Given the description of an element on the screen output the (x, y) to click on. 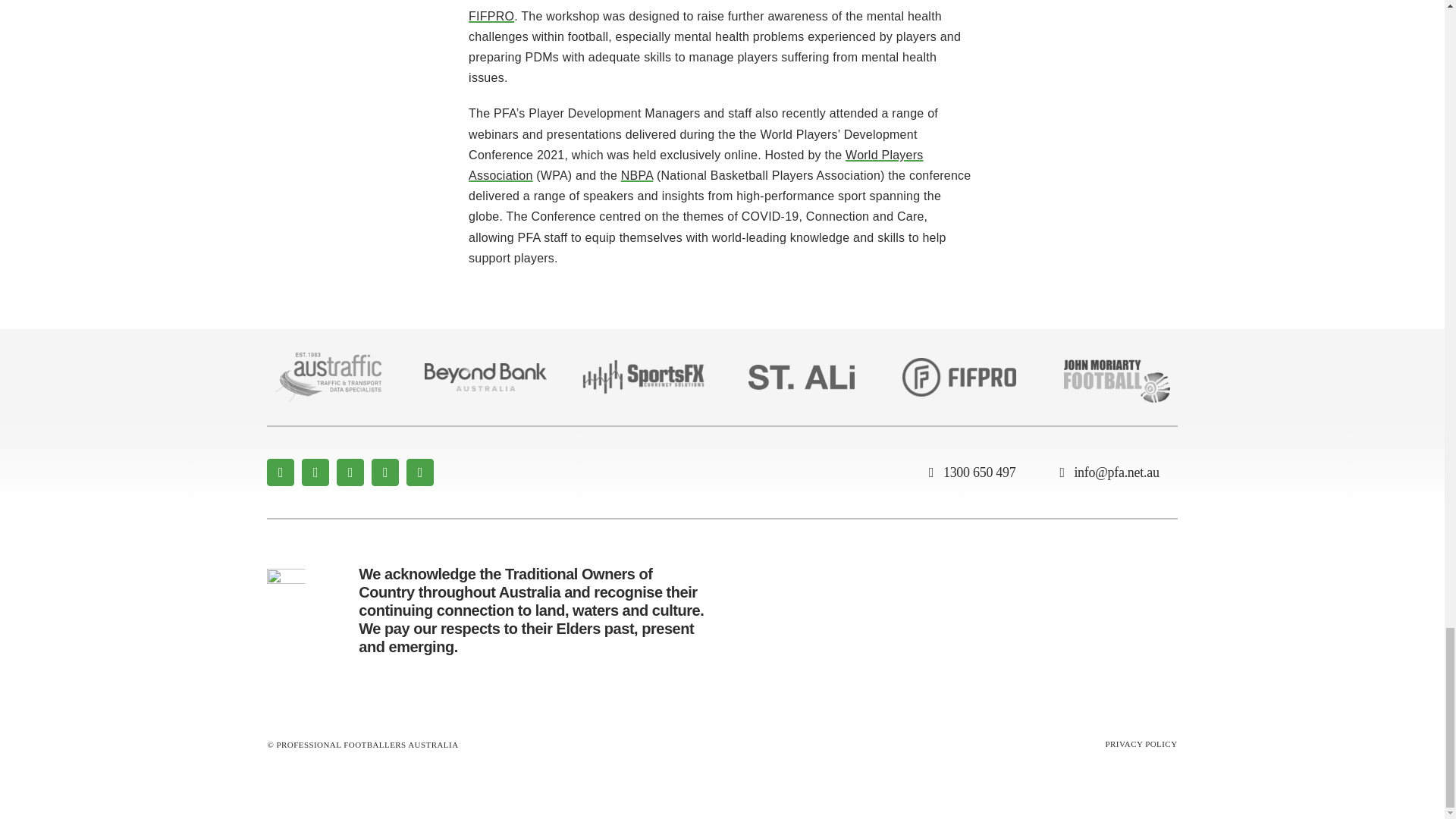
YouTube (384, 472)
Facebook (280, 472)
X (315, 472)
LinkedIn (419, 472)
Instagram (350, 472)
